Given the description of an element on the screen output the (x, y) to click on. 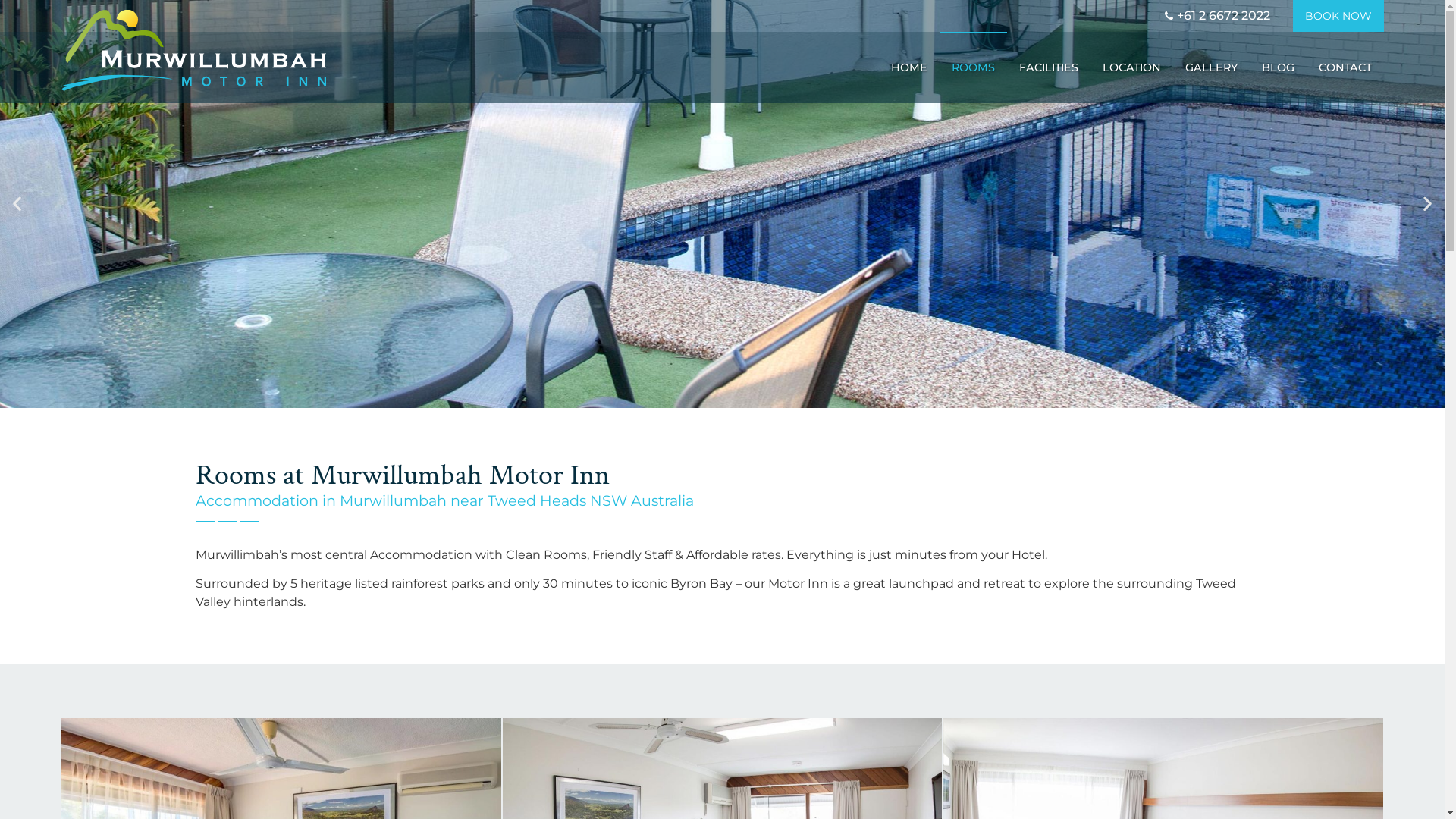
GALLERY Element type: text (1211, 67)
BLOG Element type: text (1277, 67)
FACILITIES Element type: text (1048, 67)
+61 2 6672 2022 Element type: text (1215, 15)
BOOK NOW Element type: text (1337, 15)
ROOMS Element type: text (973, 67)
CONTACT Element type: text (1344, 67)
HOME Element type: text (908, 67)
LOCATION Element type: text (1131, 67)
